Given the description of an element on the screen output the (x, y) to click on. 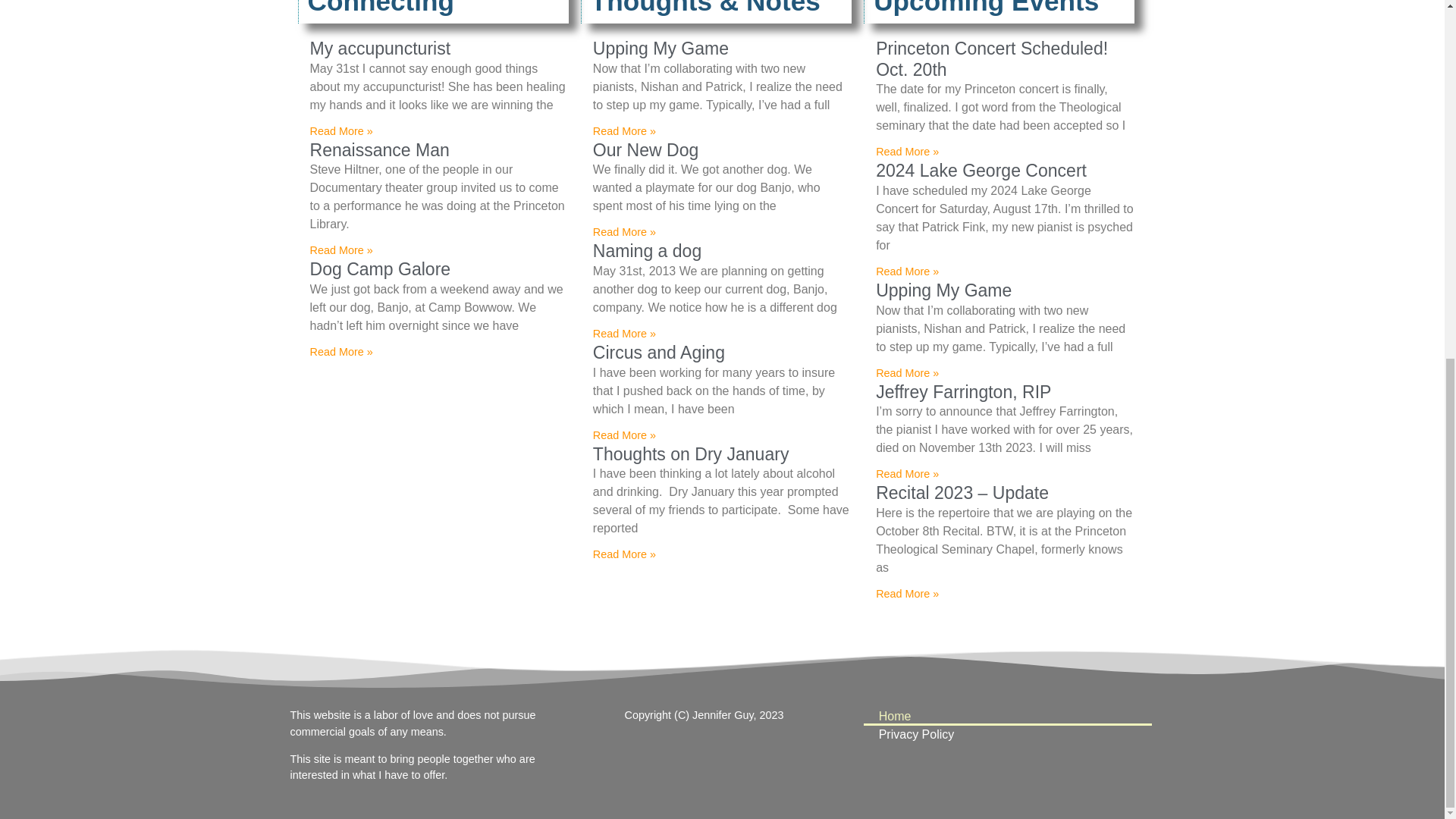
Naming a dog (646, 250)
Our New Dog (645, 149)
Thoughts on Dry January (690, 454)
Dog Camp Galore (378, 269)
Home (1007, 716)
Circus and Aging (658, 352)
Jeffrey Farrington, RIP (963, 392)
Princeton Concert Scheduled! Oct. 20th (992, 58)
Upcoming Events (986, 7)
Connecting (380, 7)
Upping My Game (660, 48)
2024 Lake George Concert (981, 170)
My accupuncturist (378, 48)
Renaissance Man (378, 149)
Upping My Game (943, 290)
